Given the description of an element on the screen output the (x, y) to click on. 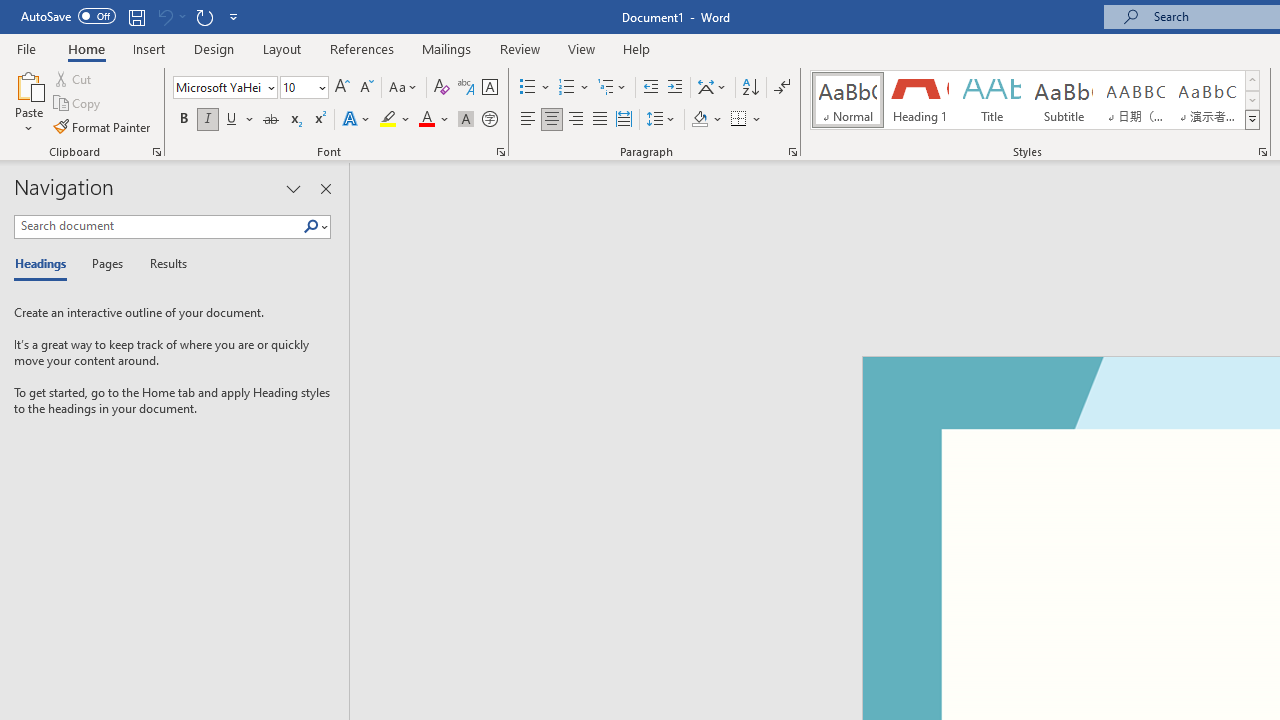
Heading 1 (920, 100)
